Given the description of an element on the screen output the (x, y) to click on. 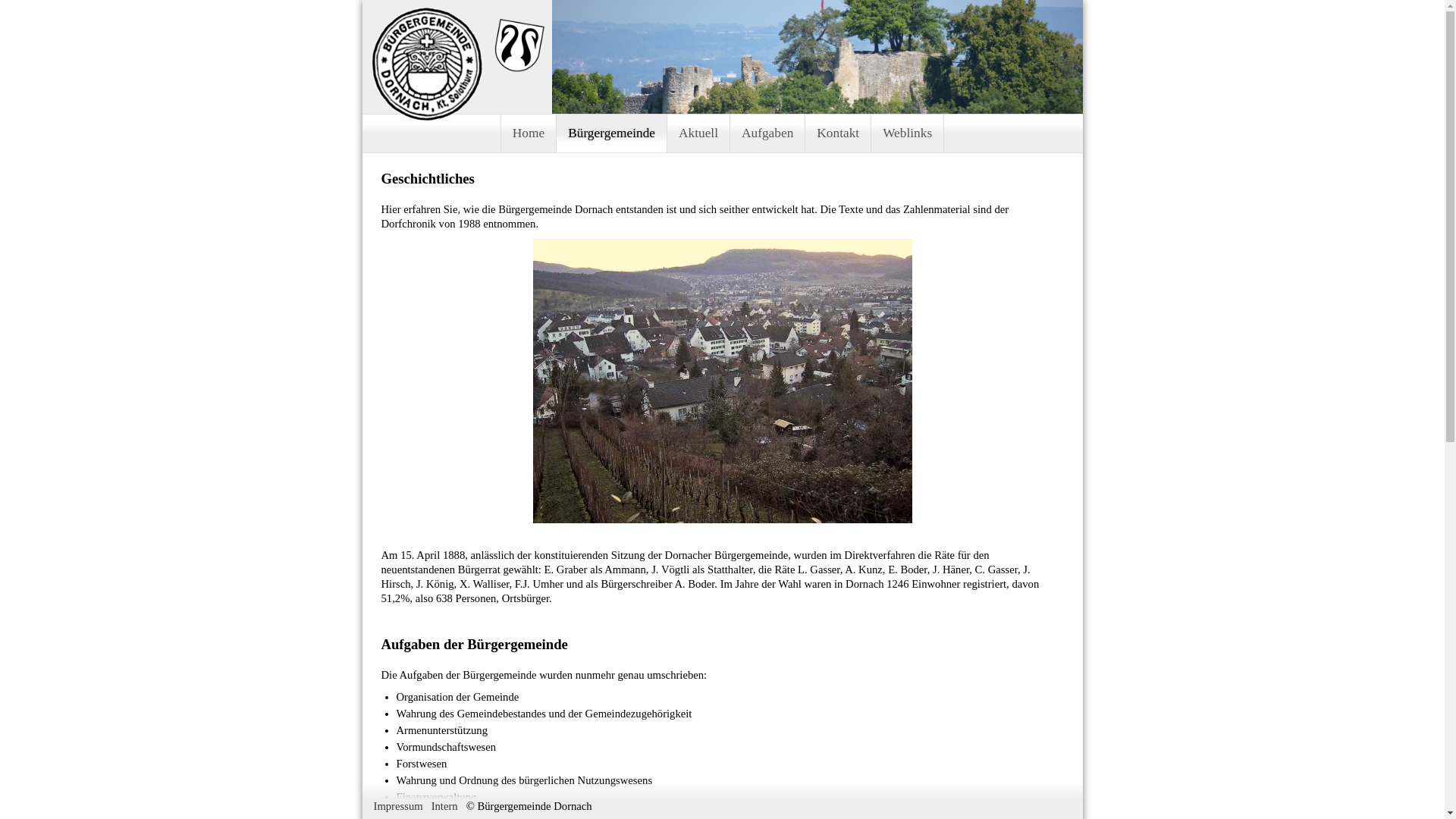
Aufgaben Element type: text (767, 133)
Kontakt Element type: text (838, 133)
Aktuell Element type: text (698, 133)
Home Element type: text (528, 133)
Intern Element type: text (444, 806)
Weblinks Element type: text (907, 133)
Impressum Element type: text (397, 806)
